Given the description of an element on the screen output the (x, y) to click on. 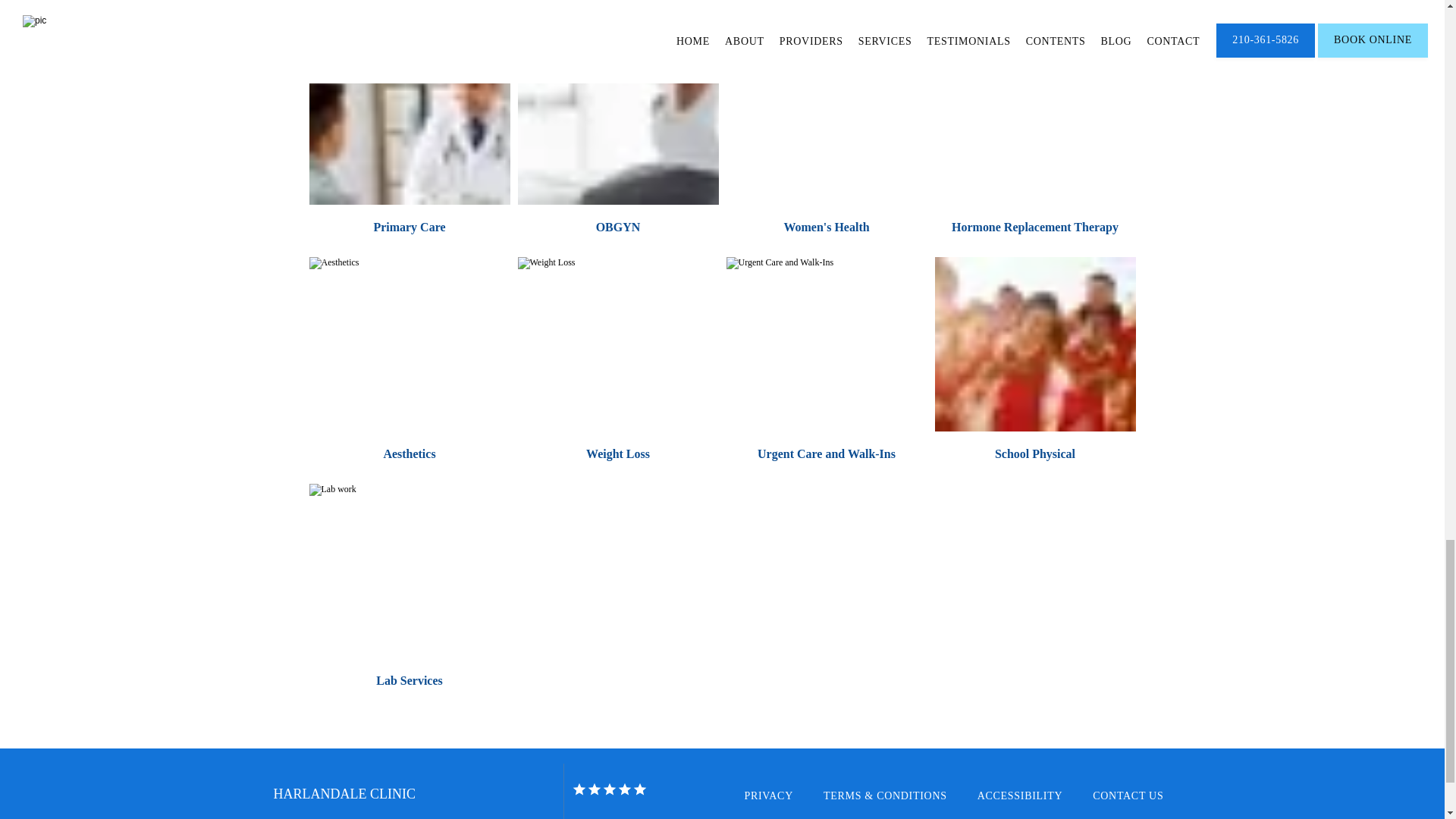
Hormone Replacement Therapy (1035, 226)
Women's Health (826, 226)
School Physical (1034, 453)
OBGYN (617, 226)
Primary Care (408, 226)
Aesthetics (408, 453)
Weight Loss (617, 453)
Urgent Care and Walk-Ins (826, 453)
